Given the description of an element on the screen output the (x, y) to click on. 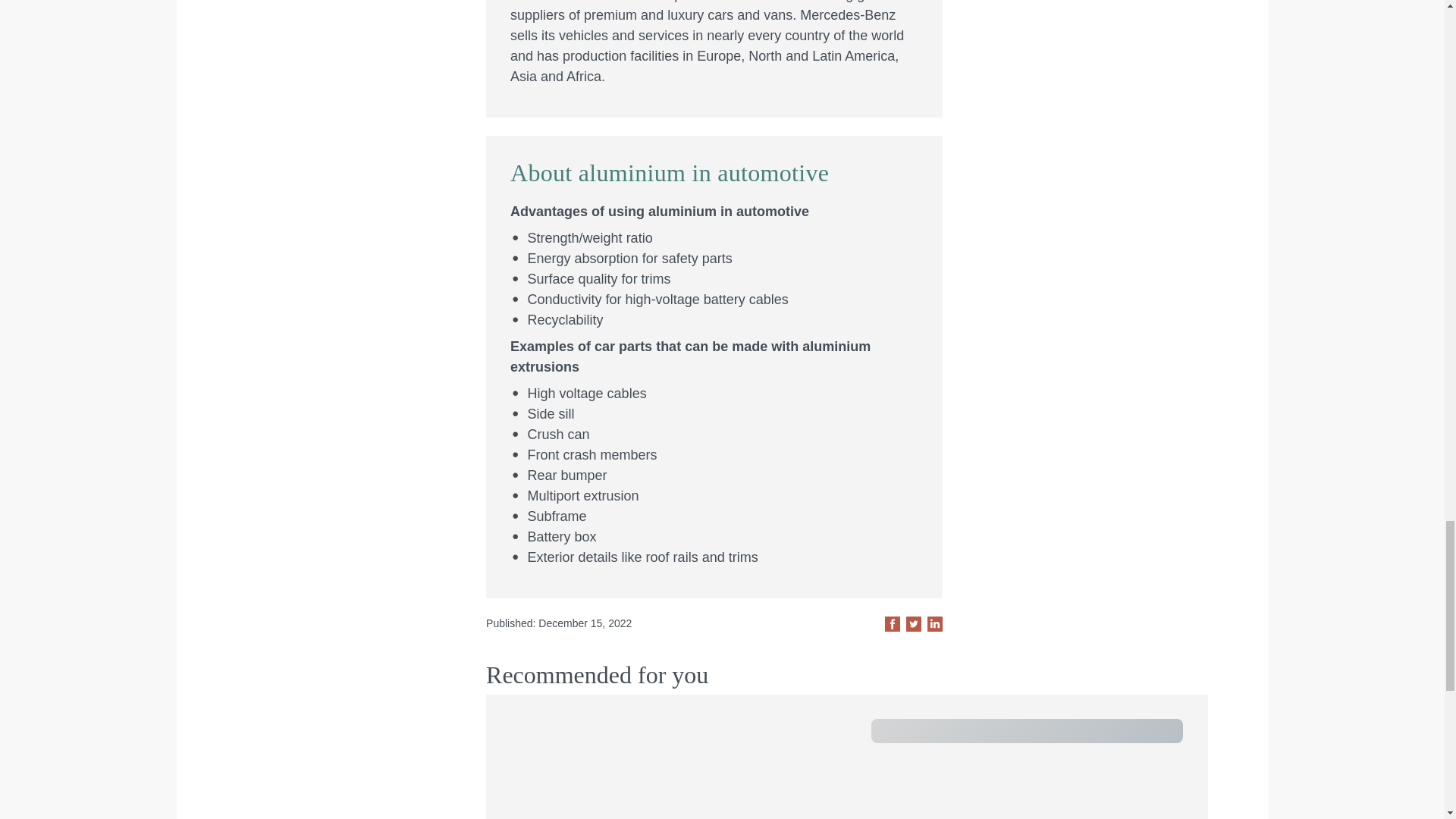
Share on facebook (892, 623)
Share on twitter (913, 623)
Share on linkedin (934, 623)
